Given the description of an element on the screen output the (x, y) to click on. 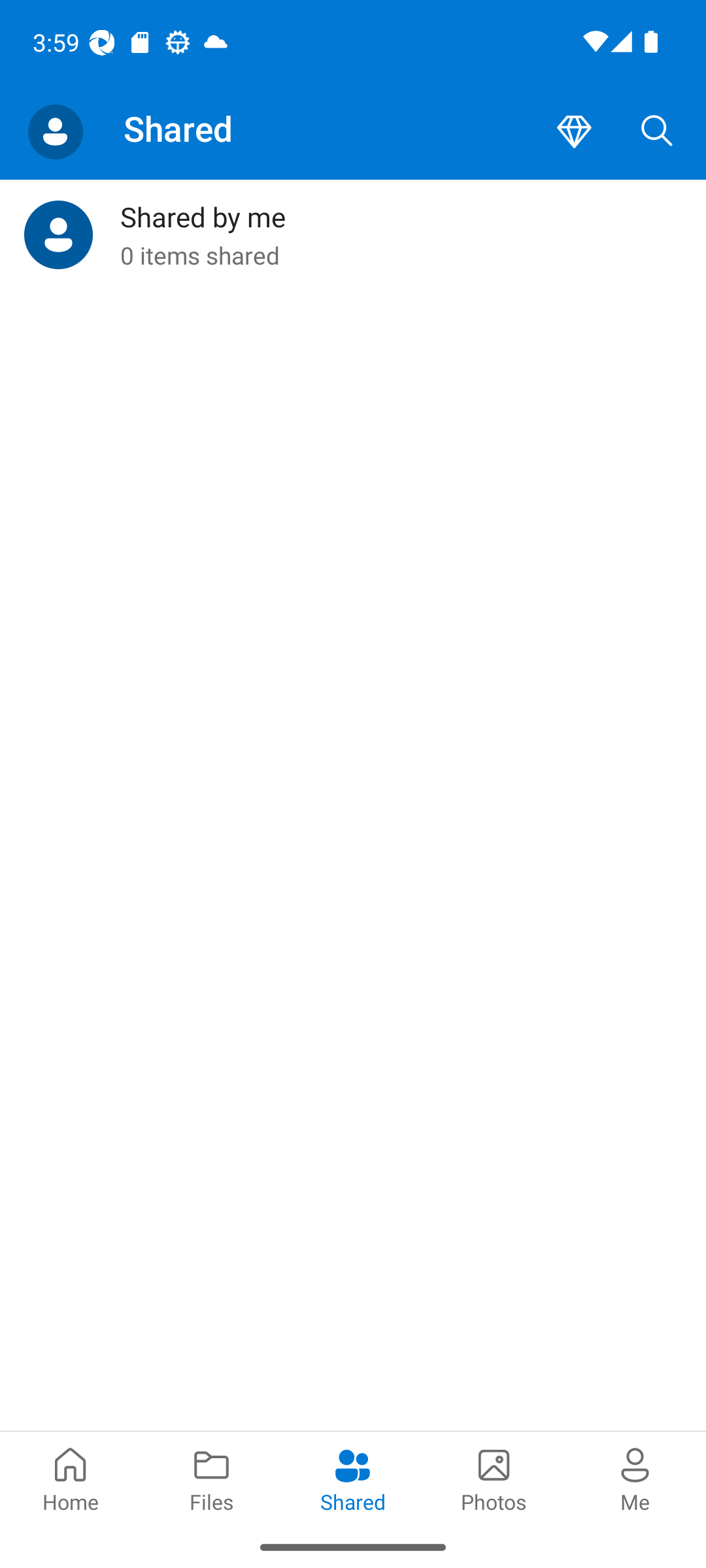
Account switcher (55, 131)
Premium button (574, 131)
Search button (656, 131)
0 Shared by me 0 items shared (353, 235)
Home pivot Home (70, 1478)
Files pivot Files (211, 1478)
Photos pivot Photos (493, 1478)
Me pivot Me (635, 1478)
